Given the description of an element on the screen output the (x, y) to click on. 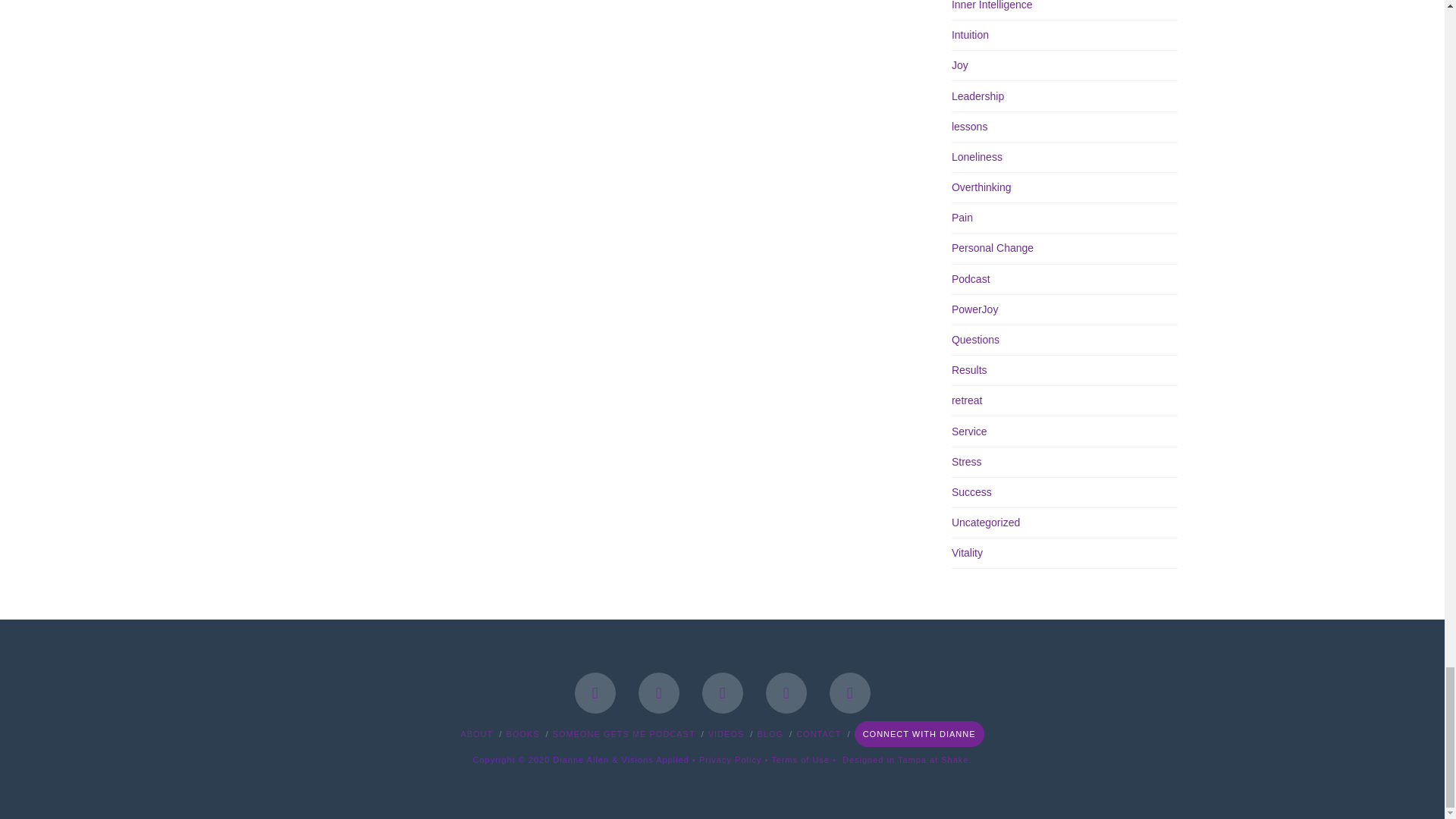
Pinterest (849, 692)
YouTube (785, 692)
Facebook (595, 692)
LinkedIn (721, 692)
